Given the description of an element on the screen output the (x, y) to click on. 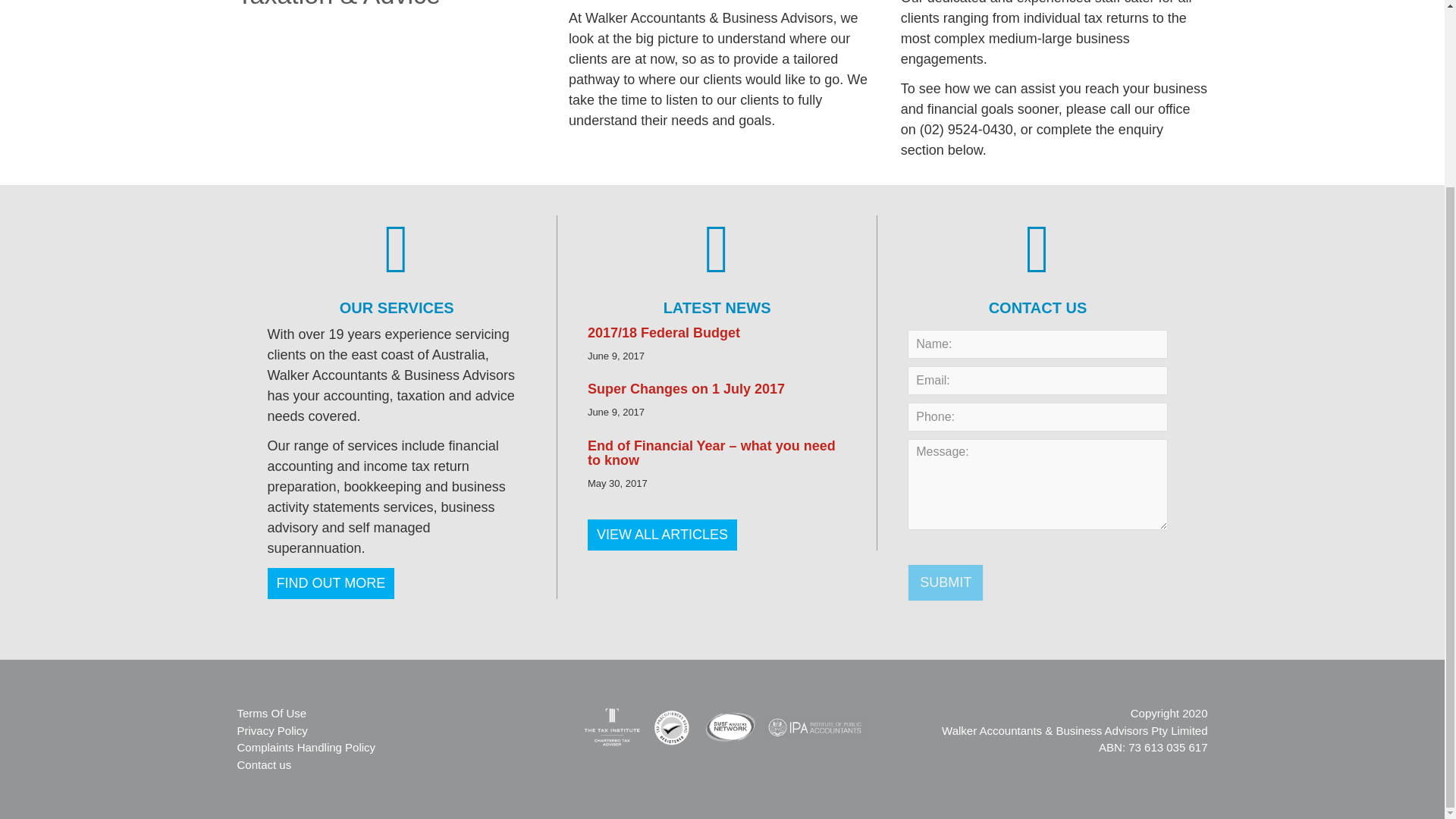
VIEW ALL ARTICLES (662, 534)
Super Changes on 1 July 2017 (686, 388)
Privacy Policy (271, 730)
FIND OUT MORE (330, 582)
Terms Of Use (270, 712)
SUBMIT (945, 582)
Complaints Handling Policy (305, 747)
Contact us (263, 763)
